Given the description of an element on the screen output the (x, y) to click on. 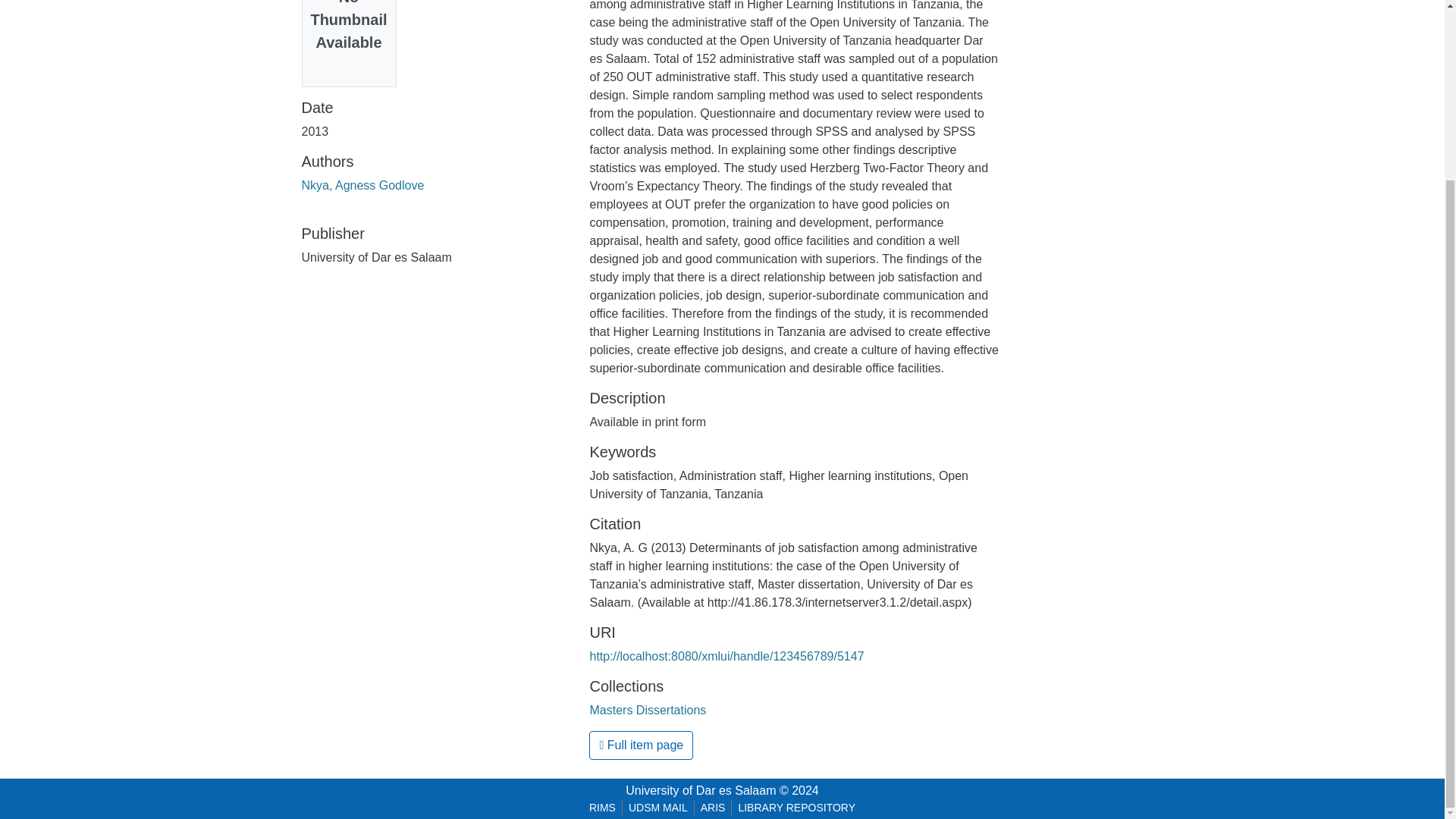
Full item page (641, 745)
ARIS (713, 807)
UDSM MAIL (658, 807)
LIBRARY REPOSITORY (796, 807)
Nkya, Agness Godlove (363, 185)
Masters Dissertations (647, 709)
RIMS (602, 807)
